Given the description of an element on the screen output the (x, y) to click on. 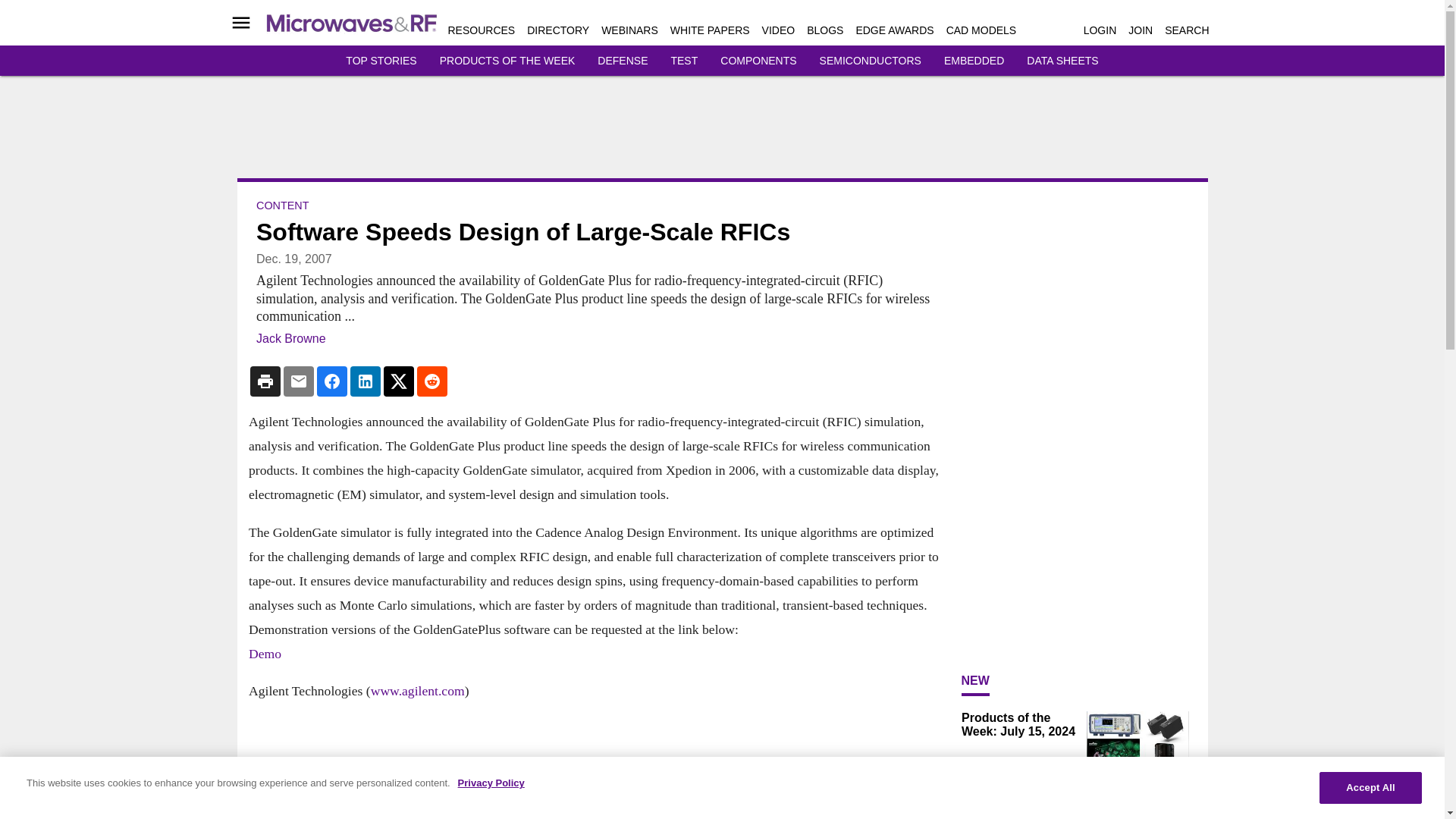
SEARCH (1186, 30)
DATA SHEETS (1061, 60)
DEFENSE (621, 60)
WHITE PAPERS (709, 30)
DIRECTORY (558, 30)
SEMICONDUCTORS (870, 60)
TEST (683, 60)
COMPONENTS (758, 60)
EMBEDDED (973, 60)
LOGIN (1099, 30)
CAD MODELS (981, 30)
JOIN (1140, 30)
RESOURCES (480, 30)
VIDEO (777, 30)
TOP STORIES (381, 60)
